Given the description of an element on the screen output the (x, y) to click on. 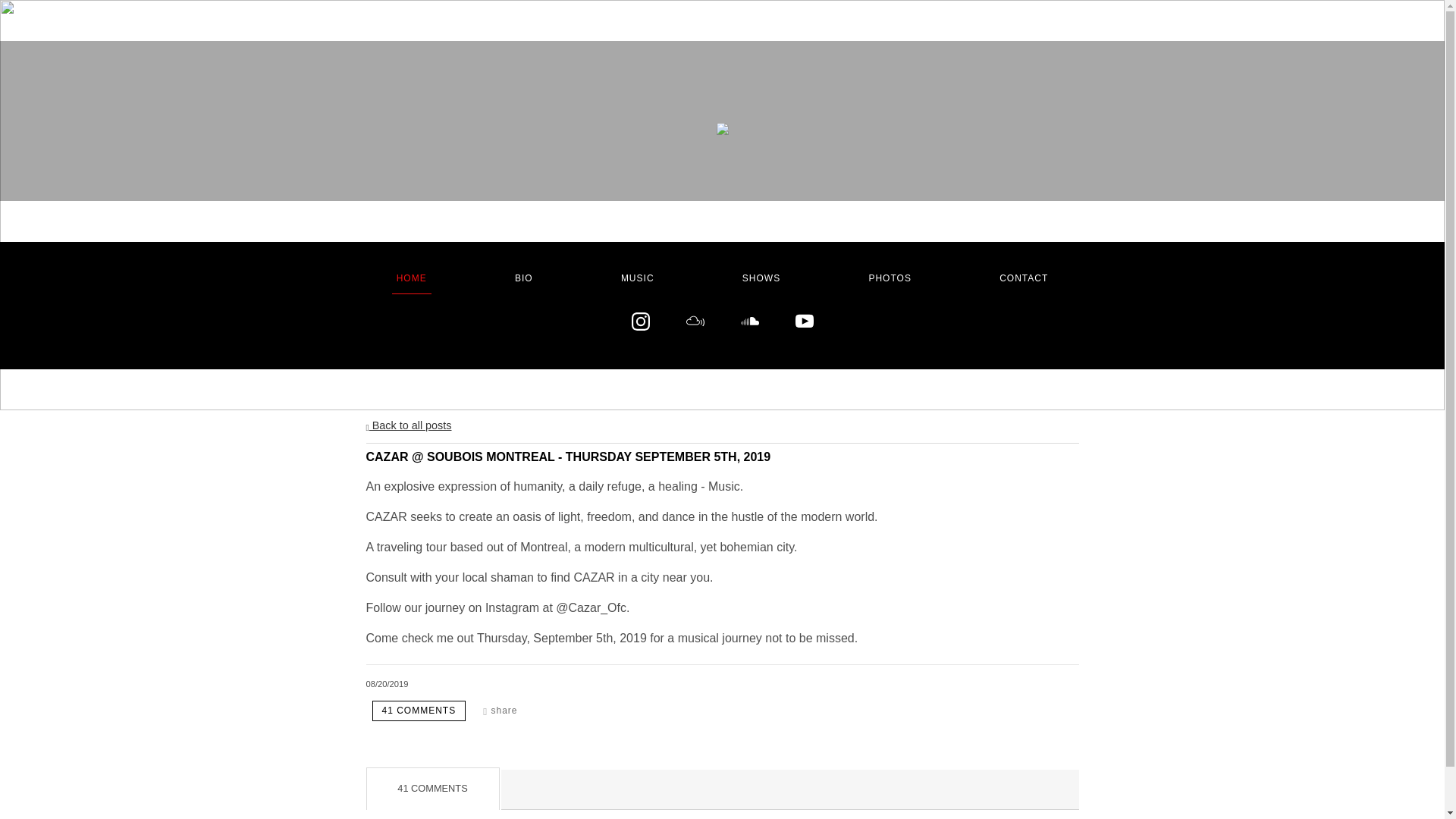
Back to all posts (408, 425)
41 COMMENTS (418, 711)
41 comments (418, 711)
PHOTOS (889, 278)
CONTACT (1023, 278)
MUSIC (637, 278)
share (499, 710)
SHOWS (761, 278)
August 20, 2019 16:47 (386, 683)
HOME (410, 278)
